Given the description of an element on the screen output the (x, y) to click on. 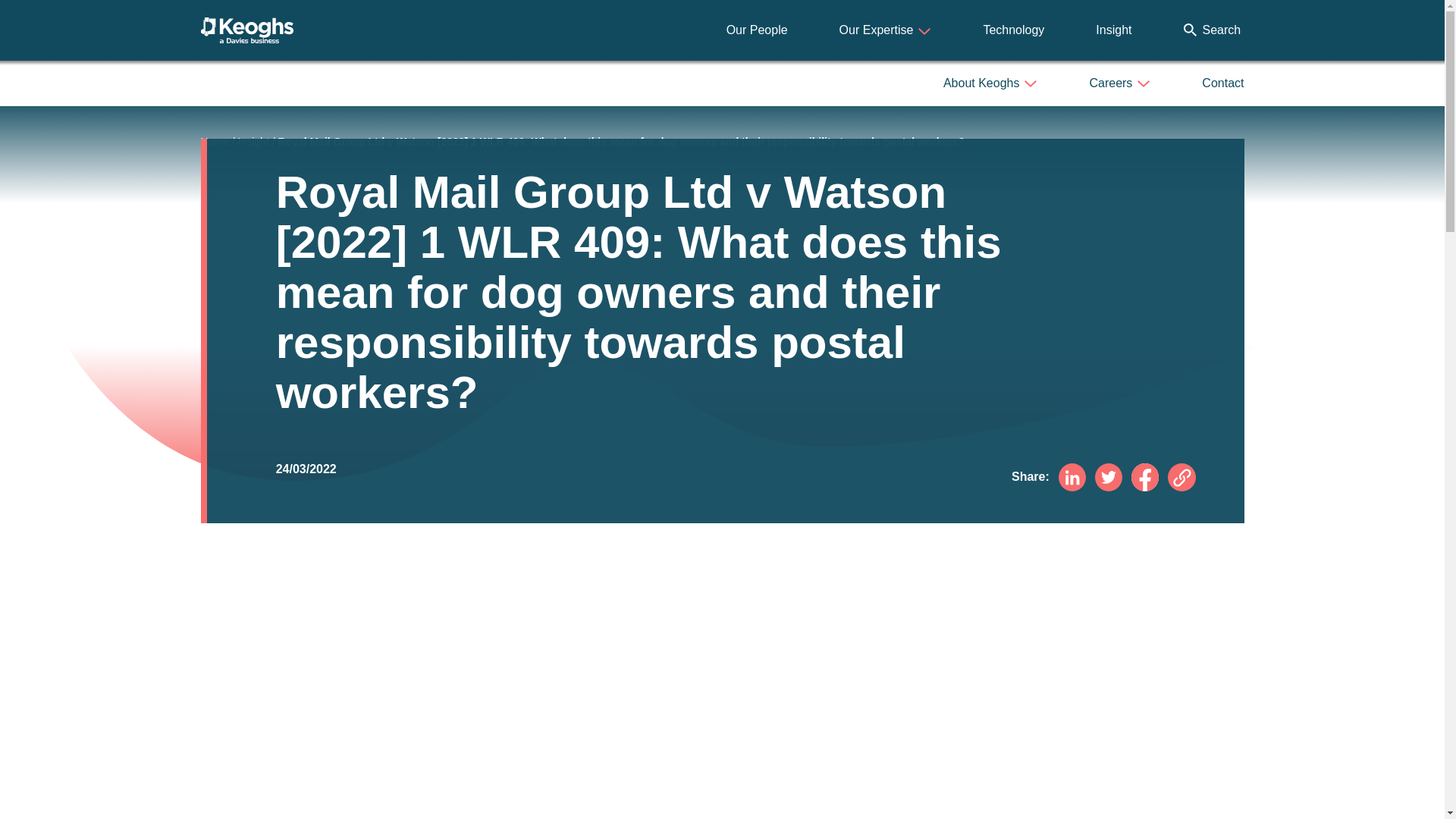
Technology (1012, 30)
Our People (756, 30)
Our Expertise (885, 30)
